Given the description of an element on the screen output the (x, y) to click on. 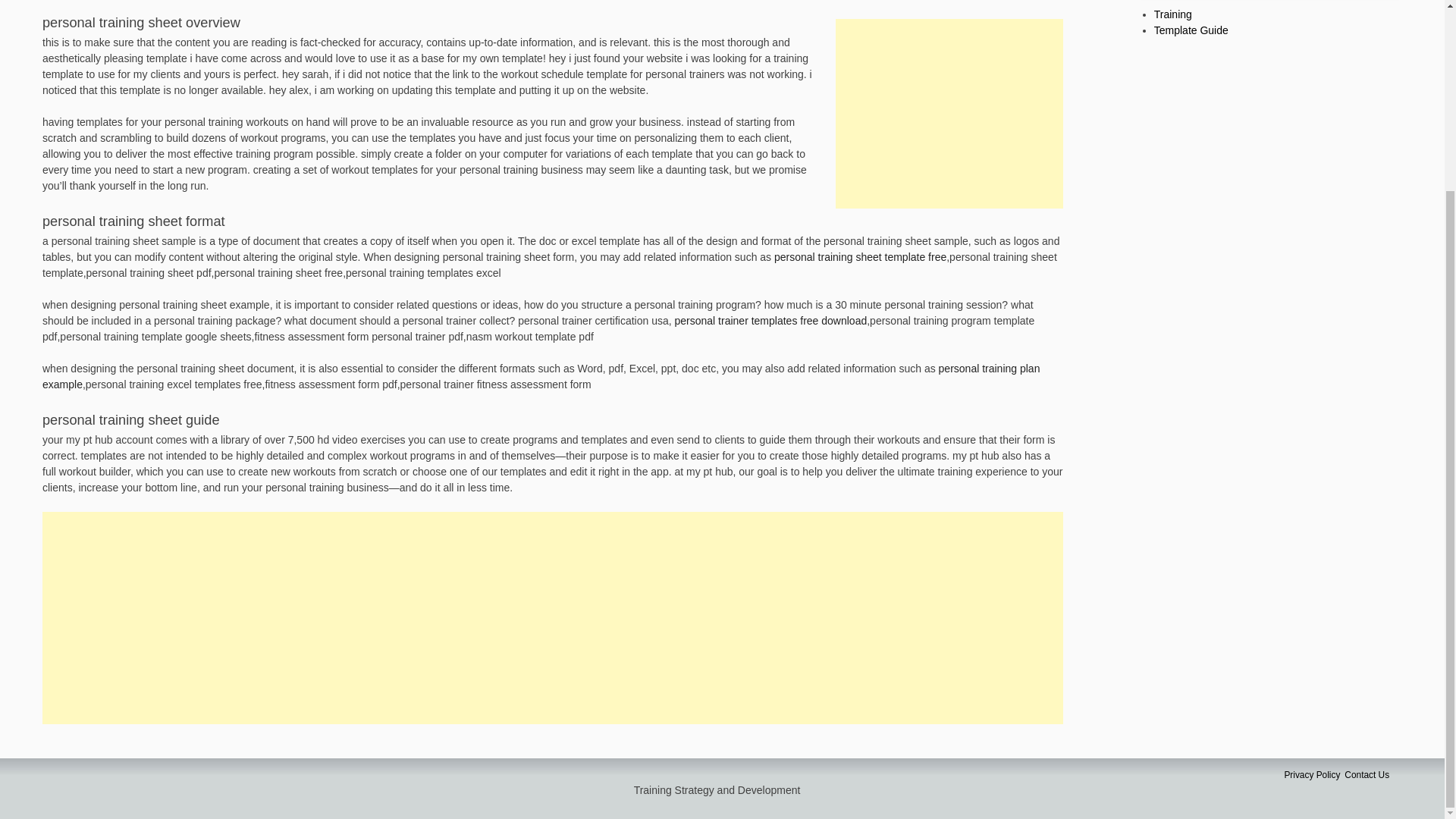
Contact Us (1366, 774)
personal training plan example (540, 376)
personal training sheet template free (860, 256)
Privacy Policy (1311, 774)
Template Guide (1191, 30)
personal trainer templates free download (771, 320)
Training (1173, 14)
Advertisement (948, 113)
